Given the description of an element on the screen output the (x, y) to click on. 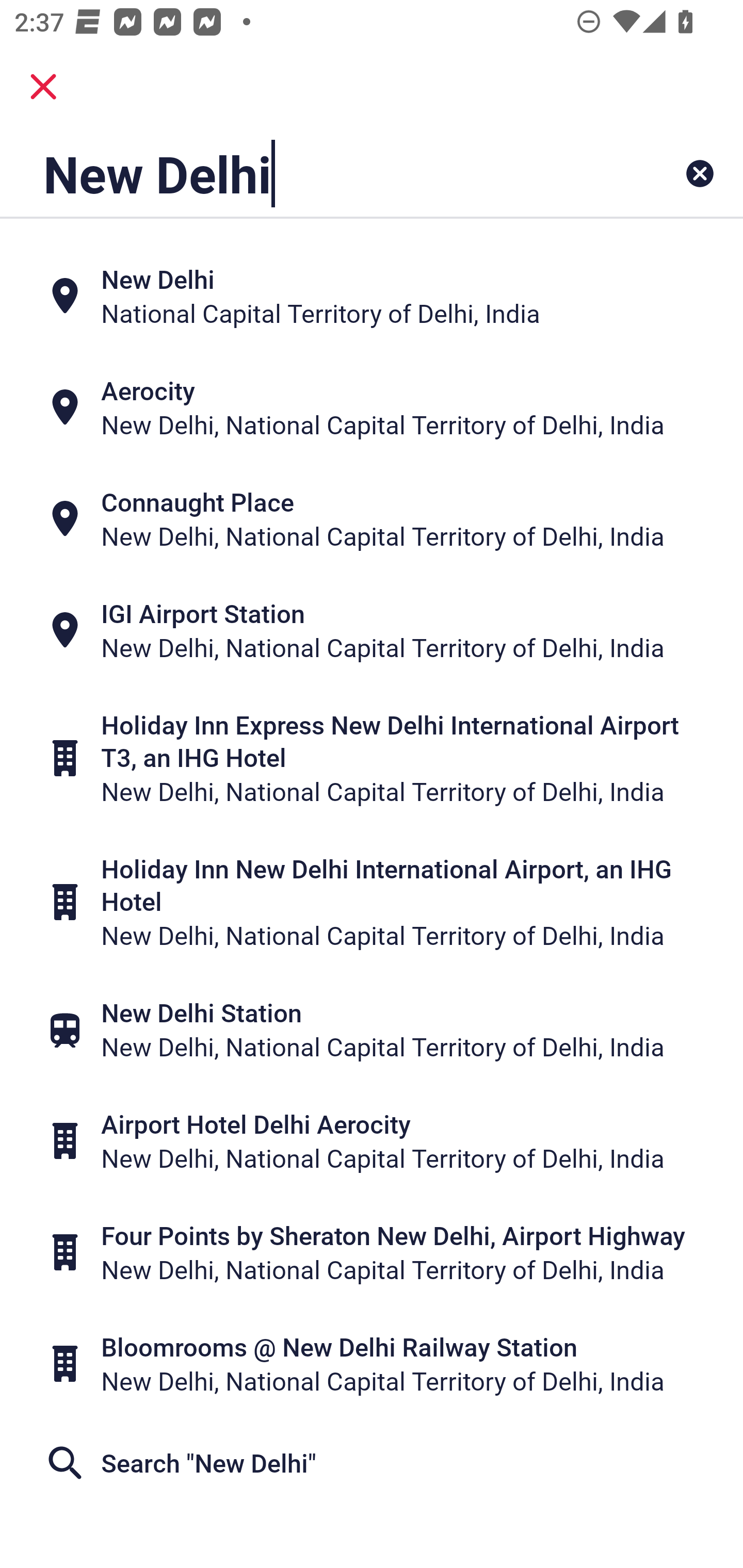
close. (43, 86)
Clear (699, 173)
New Delhi (306, 173)
Search "New Delhi" (371, 1462)
